Given the description of an element on the screen output the (x, y) to click on. 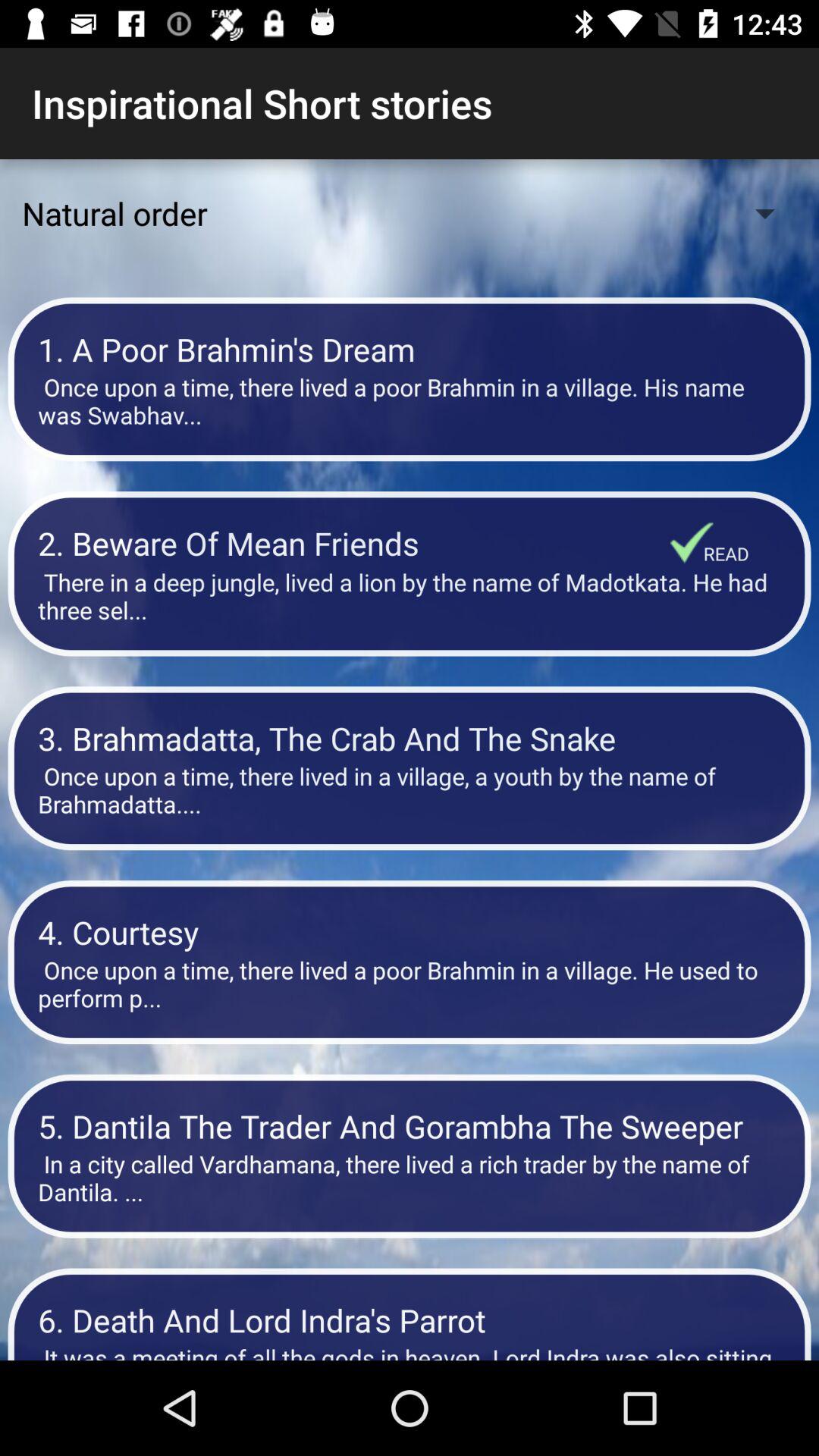
select the 4. courtesy (409, 931)
